Given the description of an element on the screen output the (x, y) to click on. 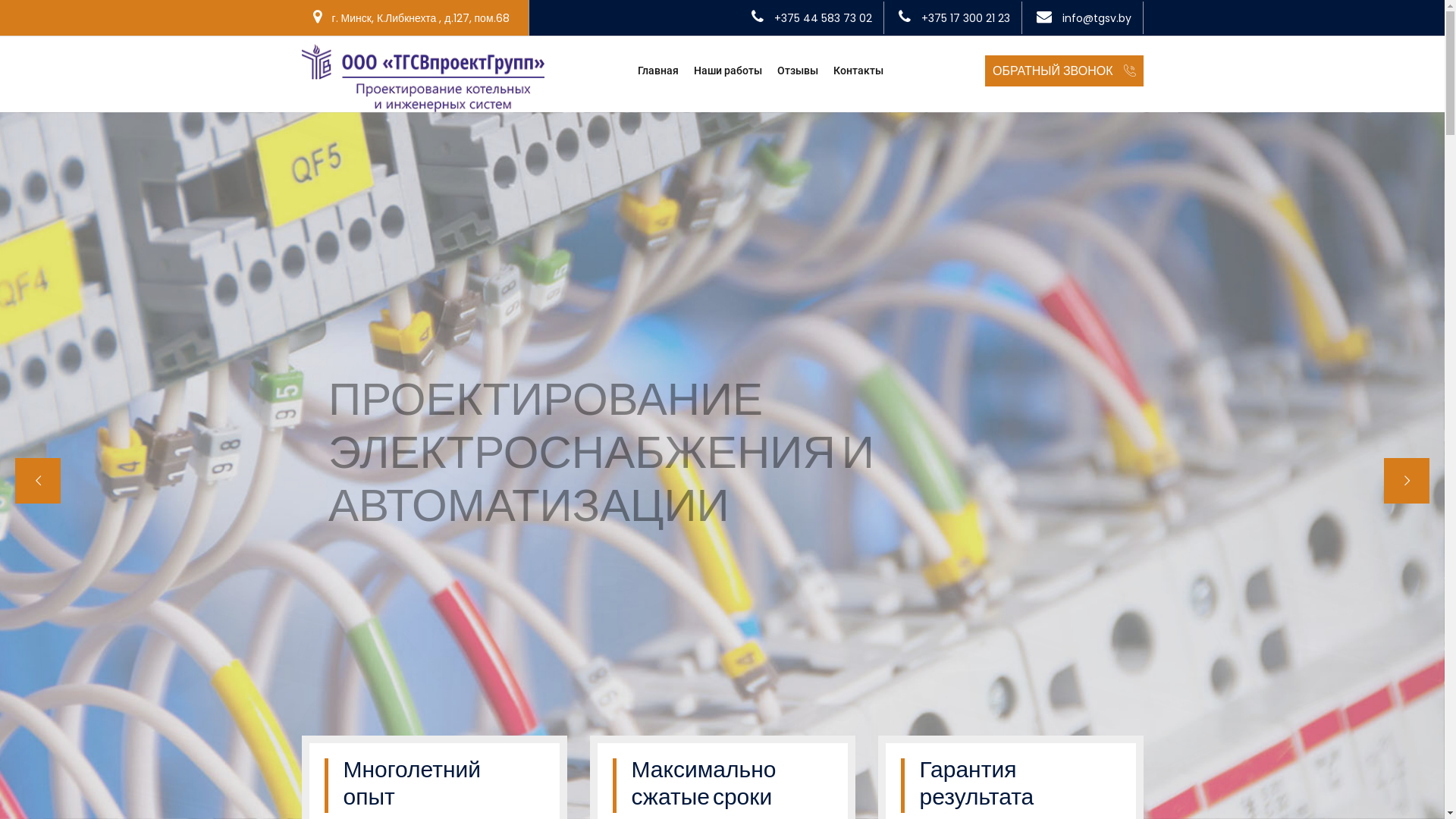
+375 17 300 21 23 Element type: text (964, 17)
+375 44 583 73 02 Element type: text (822, 17)
